Given the description of an element on the screen output the (x, y) to click on. 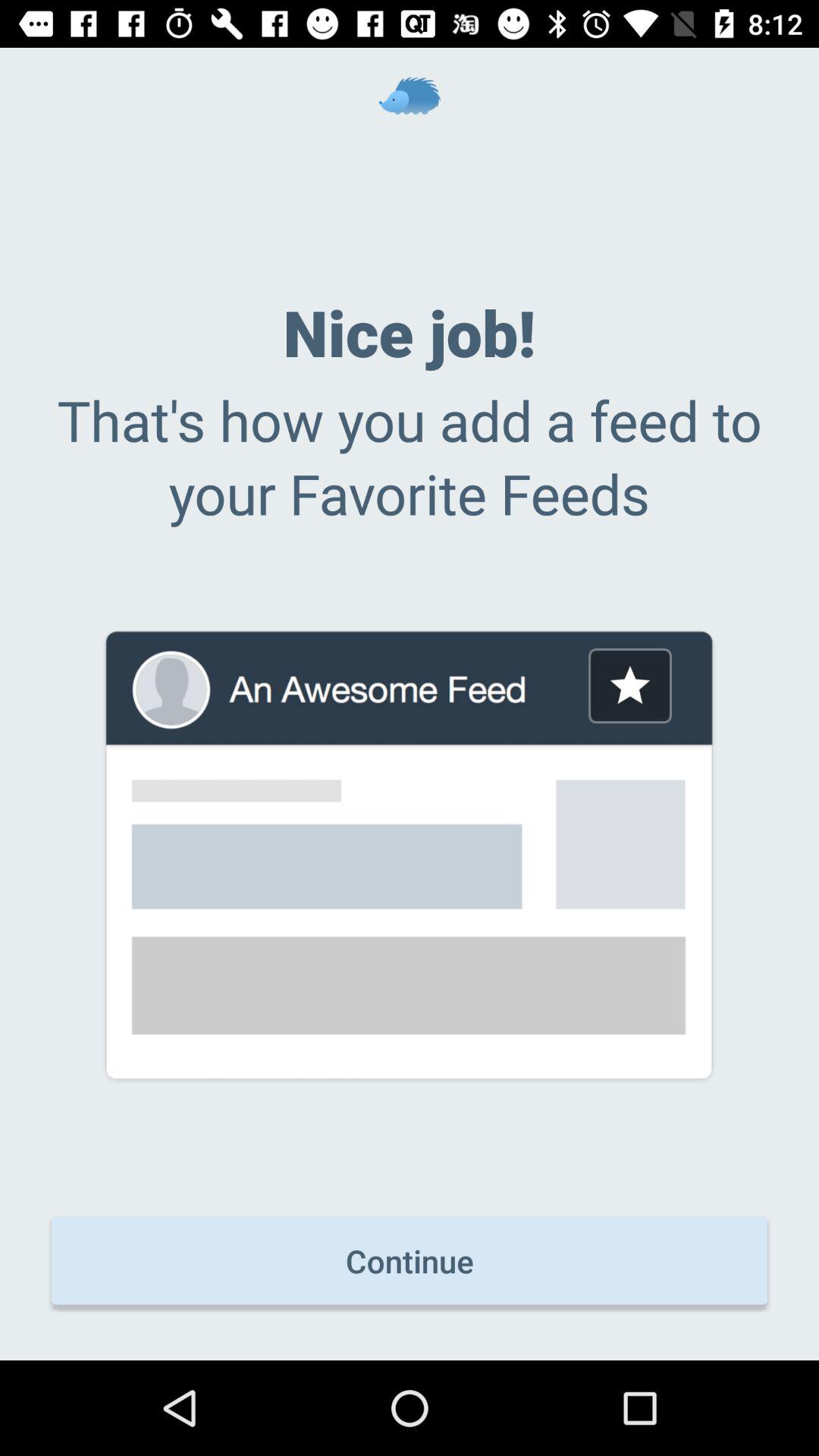
favourite (629, 685)
